Given the description of an element on the screen output the (x, y) to click on. 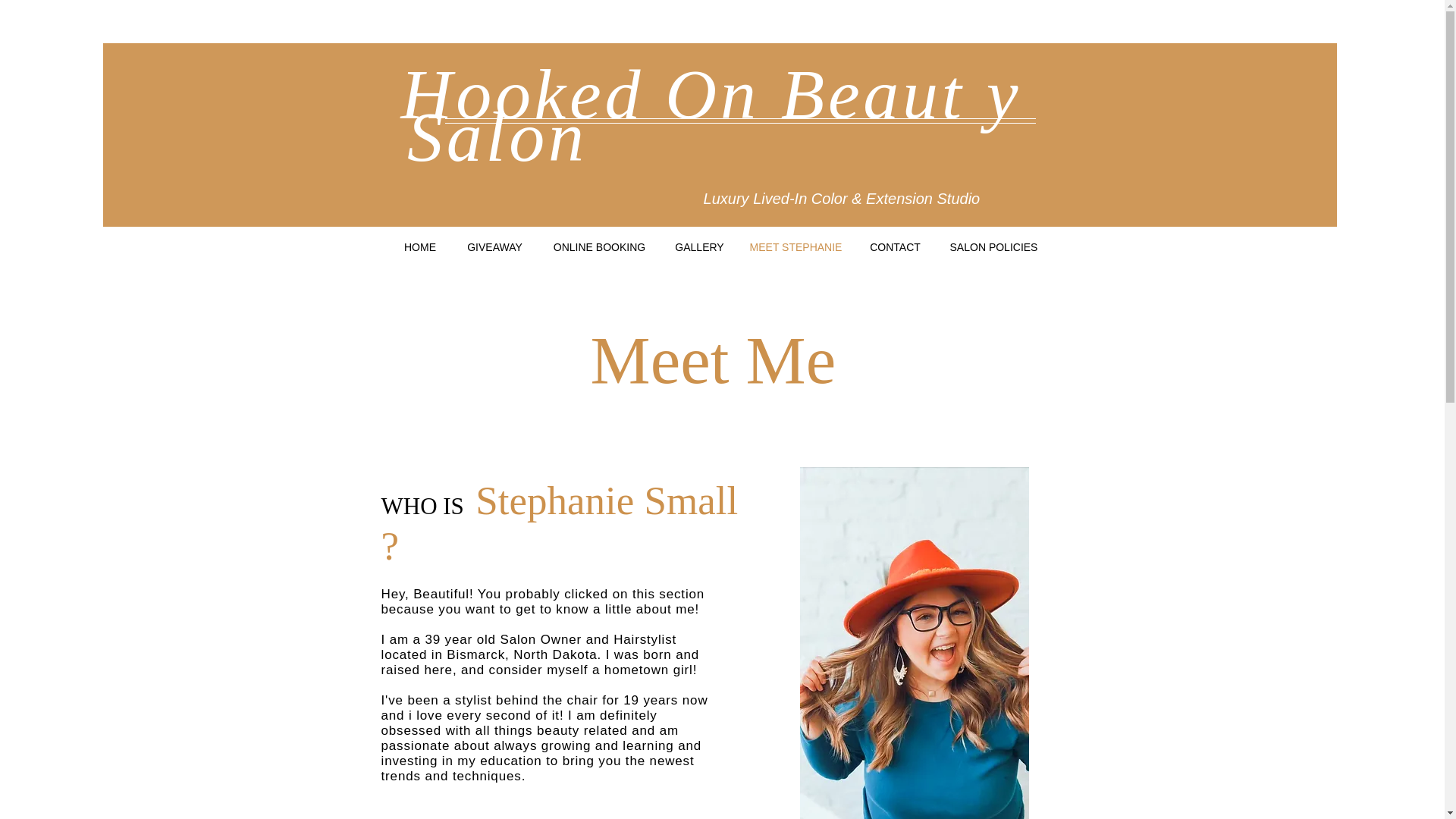
GIVEAWAY (494, 247)
HOME (420, 247)
CONTACT (894, 247)
MEET STEPHANIE (794, 247)
SALON POLICIES (993, 247)
ONLINE BOOKING (599, 247)
GALLERY (698, 247)
